Given the description of an element on the screen output the (x, y) to click on. 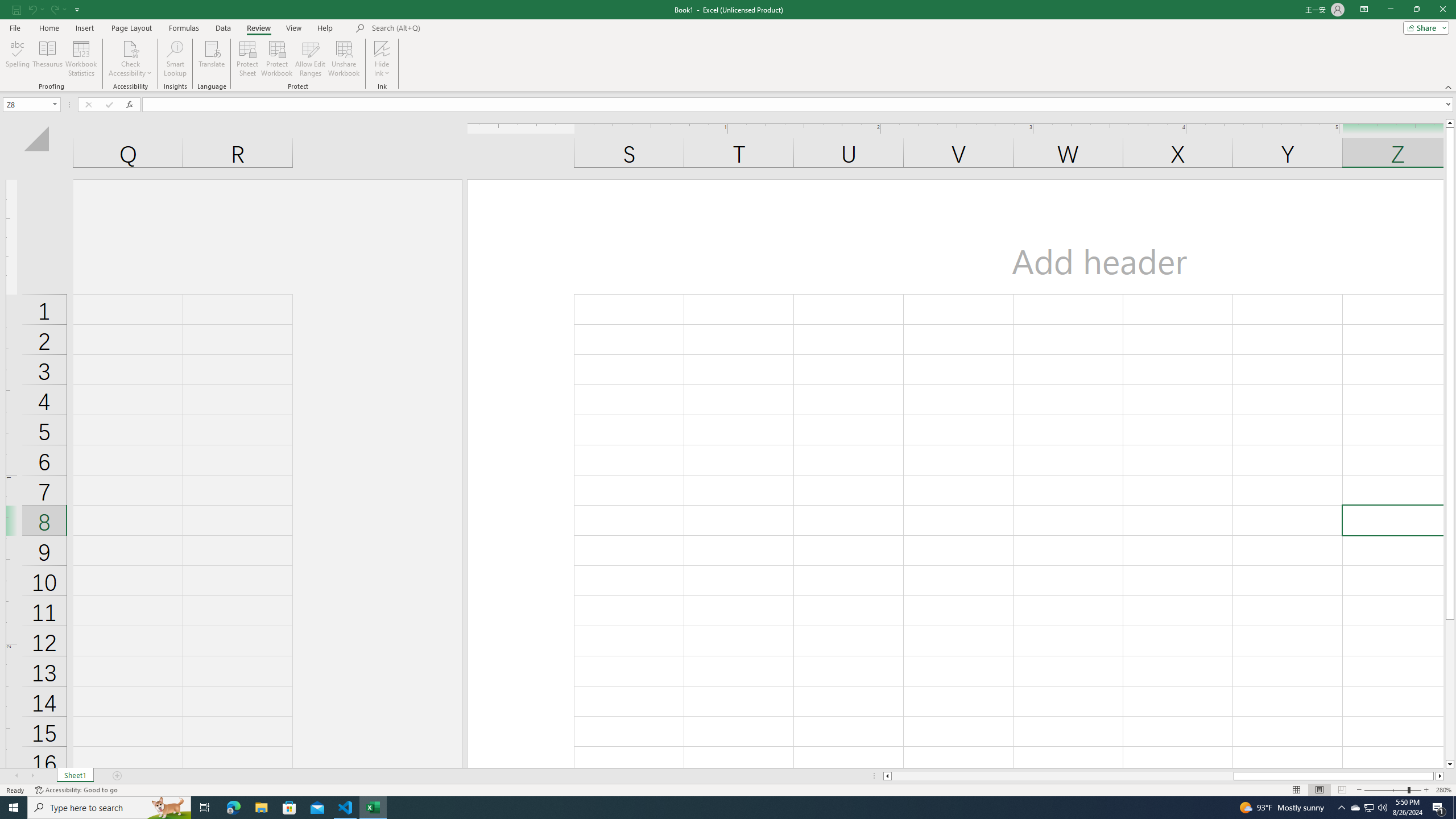
Protect Workbook... (277, 58)
Protect Sheet... (247, 58)
Thesaurus... (47, 58)
